Given the description of an element on the screen output the (x, y) to click on. 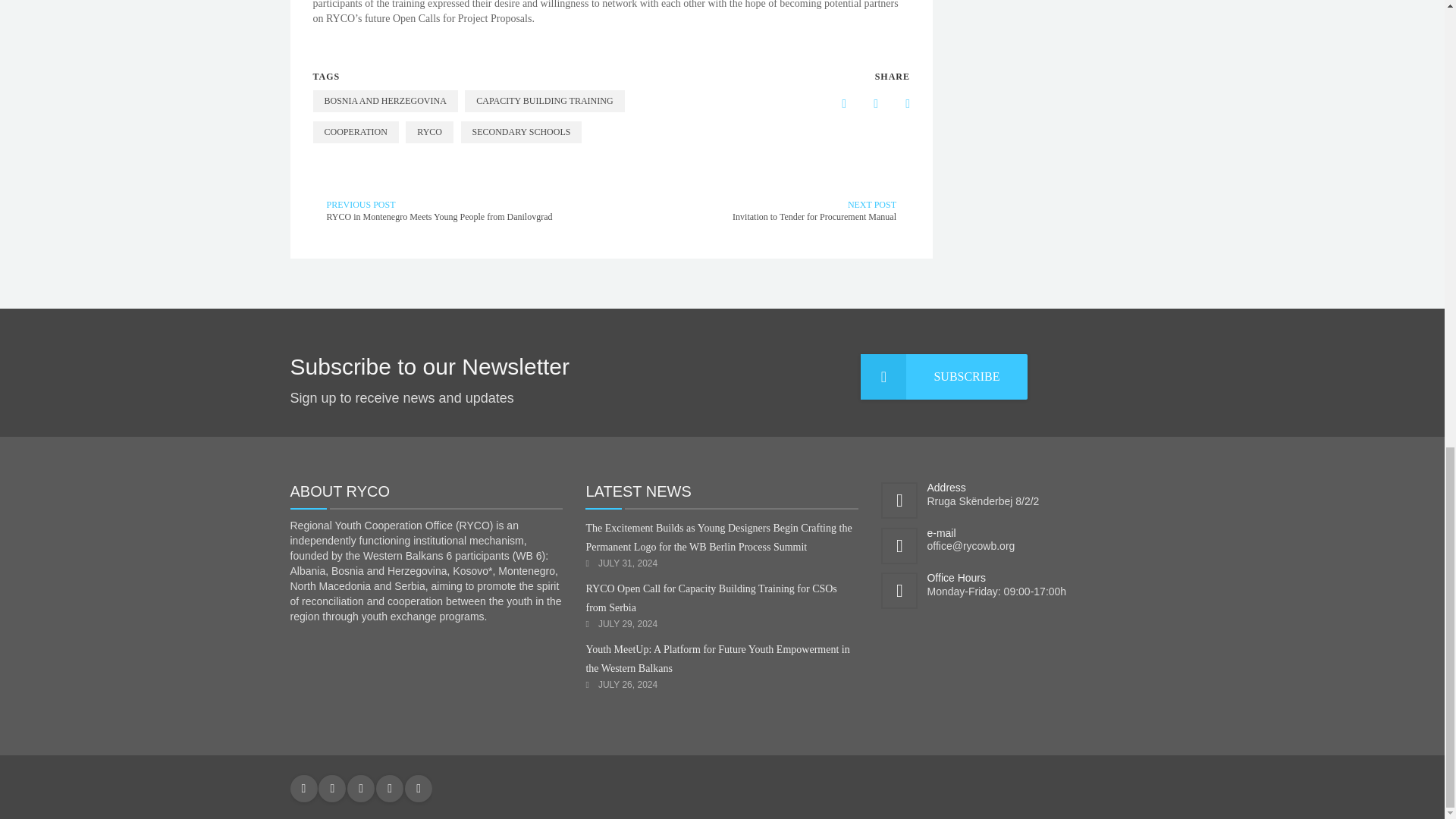
Share on Facebook (831, 103)
Tweet (896, 103)
Share on LinkedIn (863, 103)
